Given the description of an element on the screen output the (x, y) to click on. 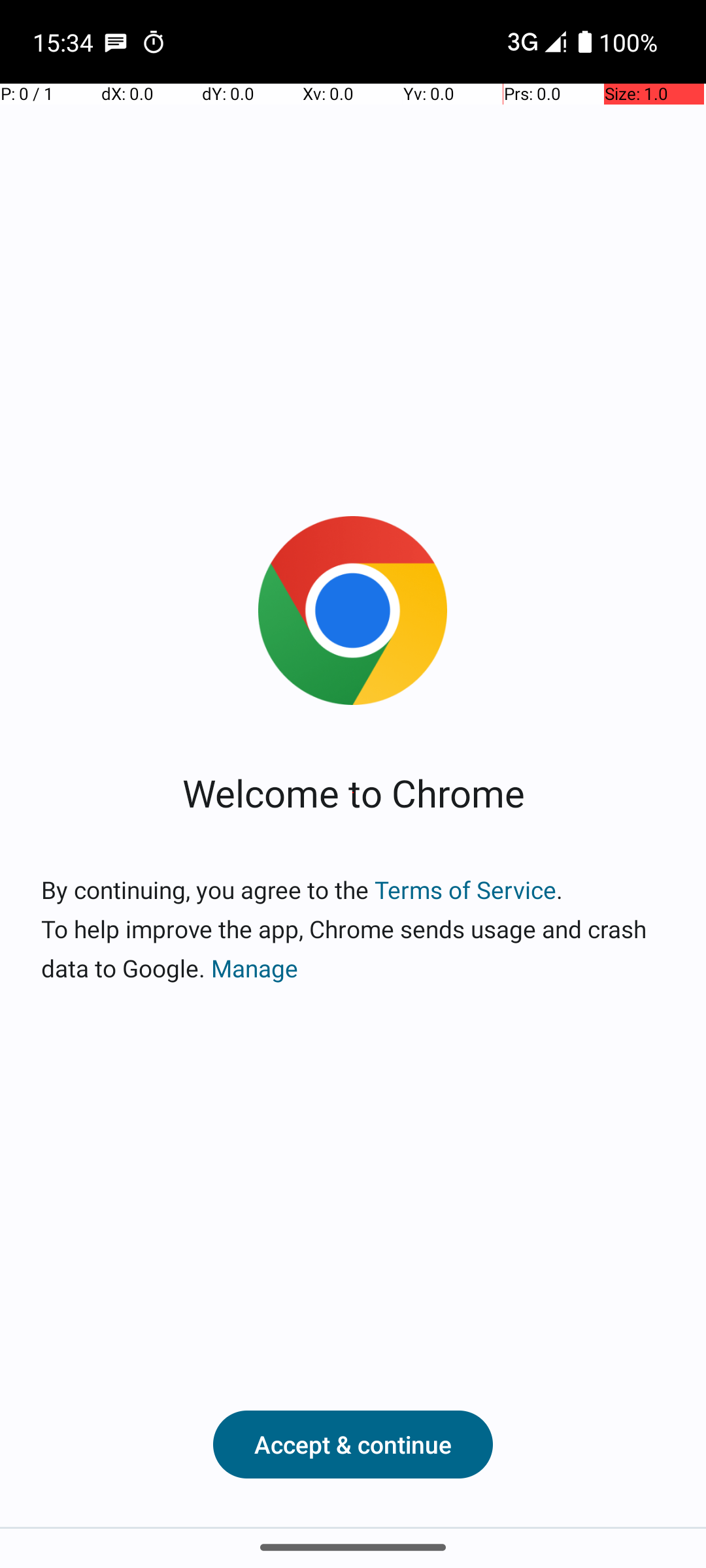
By continuing, you agree to the Terms of Service.
To help improve the app, Chrome sends usage and crash data to Google. Manage Element type: android.widget.TextView (352, 928)
